Given the description of an element on the screen output the (x, y) to click on. 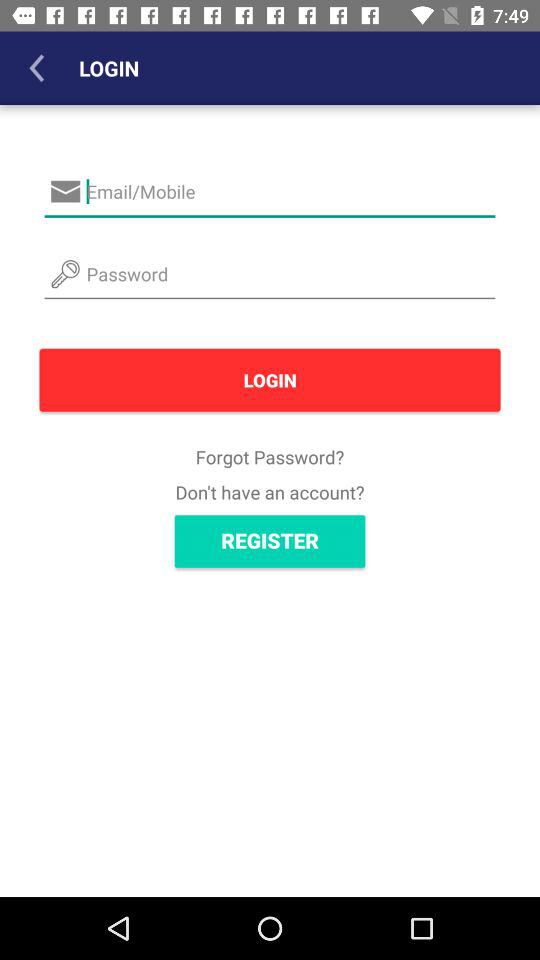
jump until forgot password? icon (269, 456)
